Given the description of an element on the screen output the (x, y) to click on. 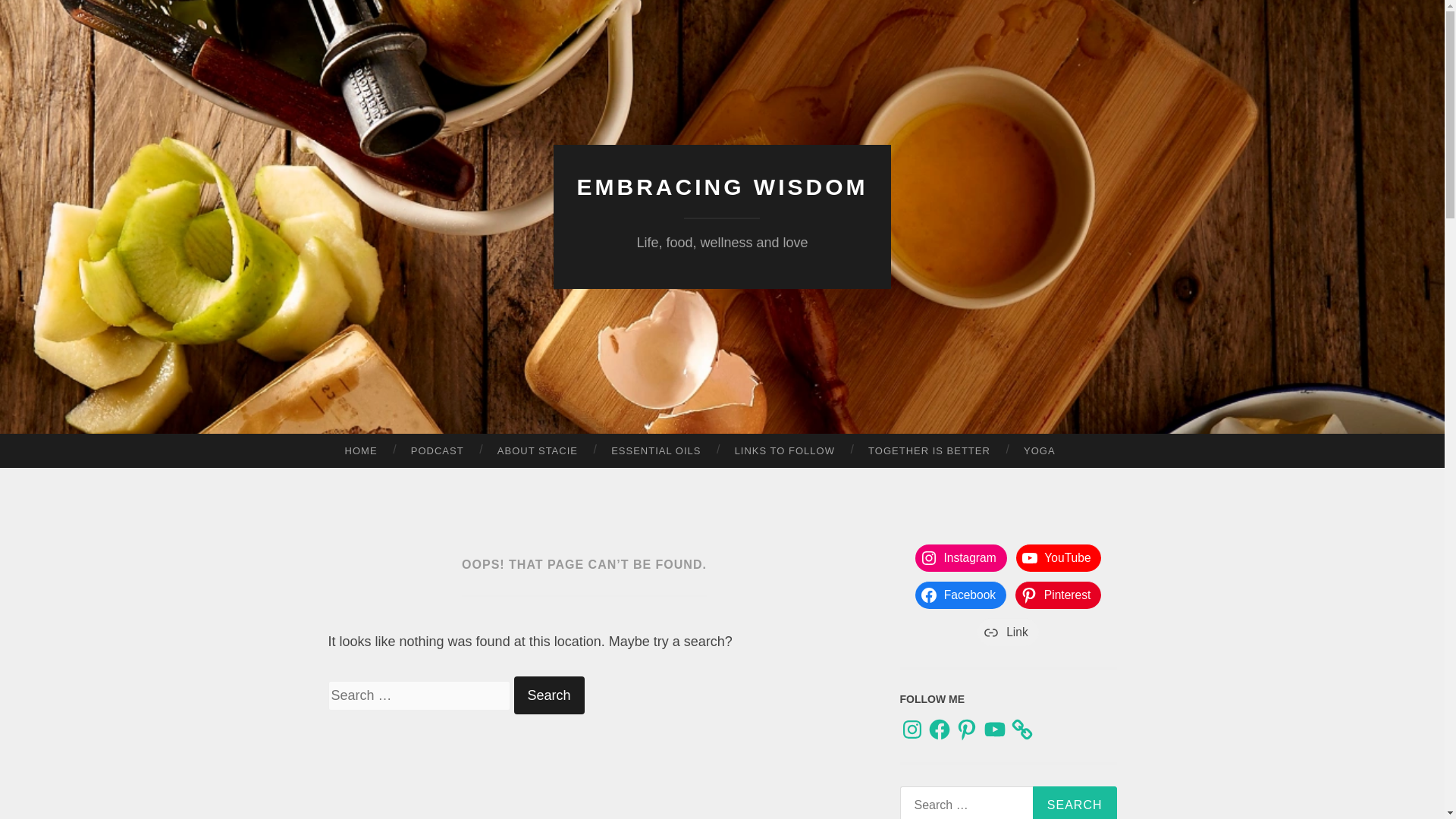
YouTube (994, 729)
Instagram (961, 557)
Facebook (939, 729)
Instagram (911, 729)
Facebook (960, 595)
YOGA (1039, 451)
Pinterest (966, 729)
EMBRACING WISDOM (721, 186)
Pinterest (1057, 595)
YouTube (1059, 557)
